Given the description of an element on the screen output the (x, y) to click on. 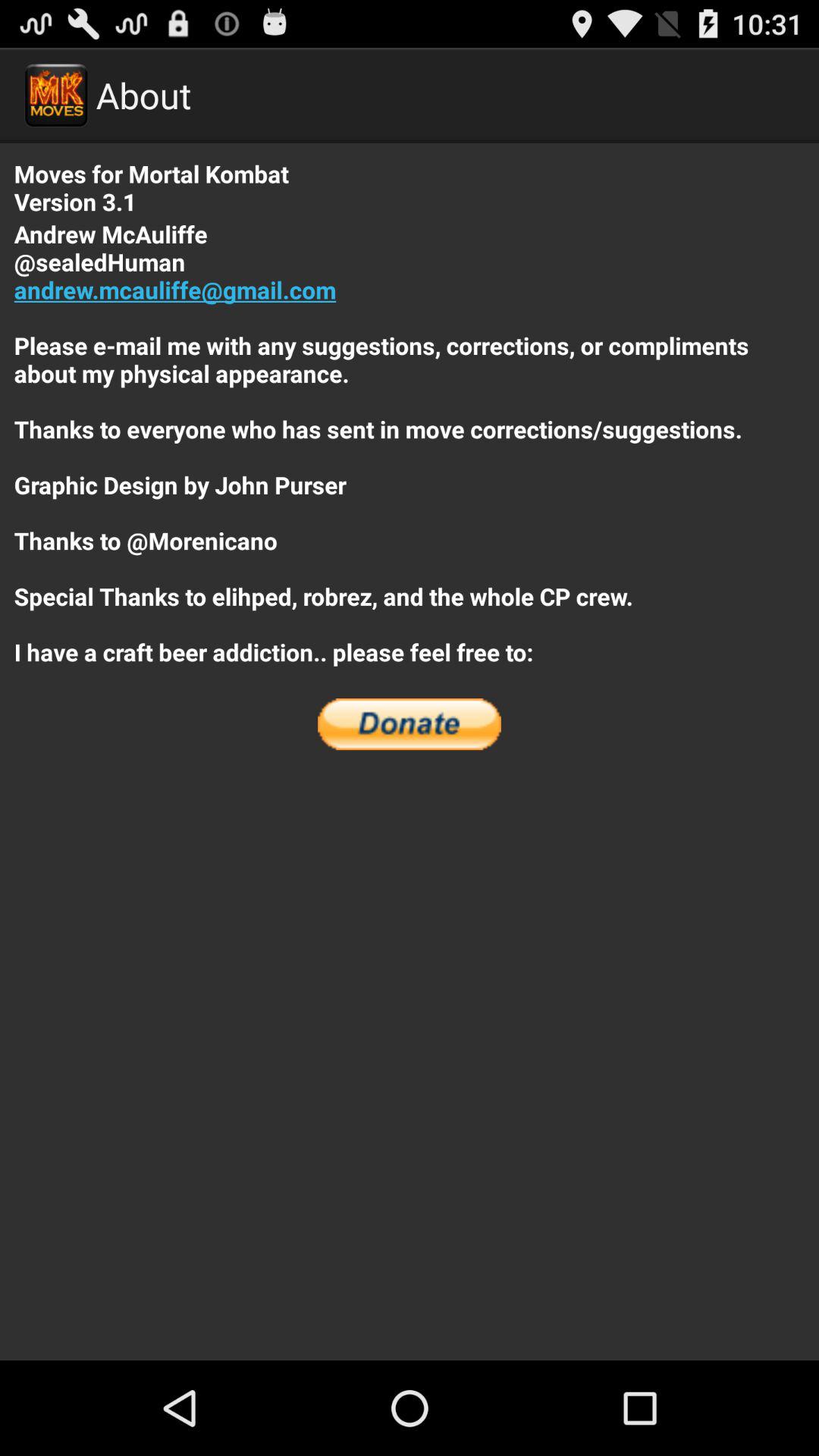
turn on app below moves for mortal icon (409, 442)
